Given the description of an element on the screen output the (x, y) to click on. 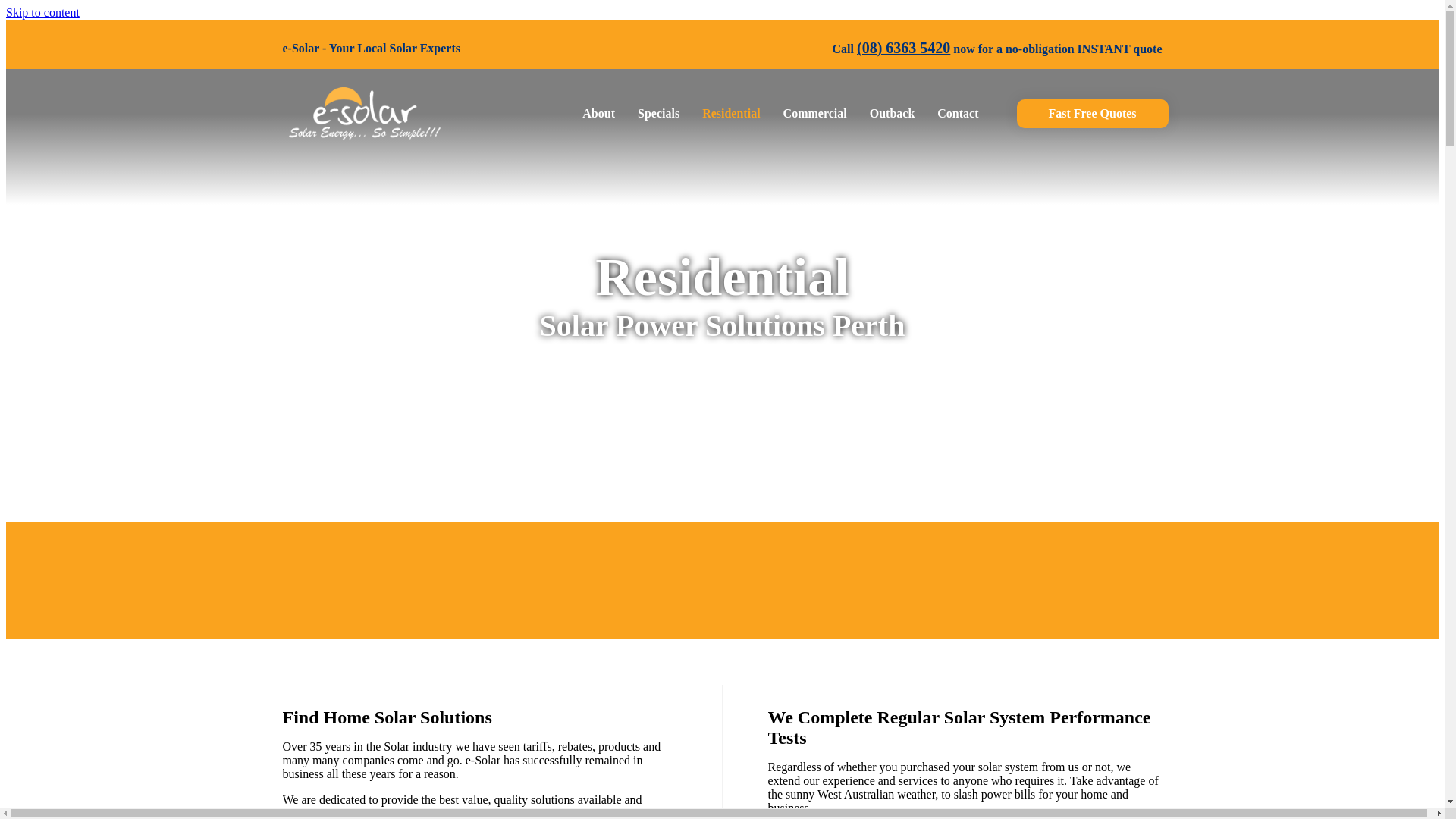
e-solar logo. Element type: hover (363, 113)
Residential Element type: text (730, 113)
Outback Element type: text (892, 113)
Skip to content Element type: text (42, 12)
Specials Element type: text (658, 113)
Contact Element type: text (957, 113)
Fast Free Quotes Element type: text (1091, 113)
(08) 6363 5420 Element type: text (903, 48)
Commercial Element type: text (814, 113)
About Element type: text (598, 113)
